Given the description of an element on the screen output the (x, y) to click on. 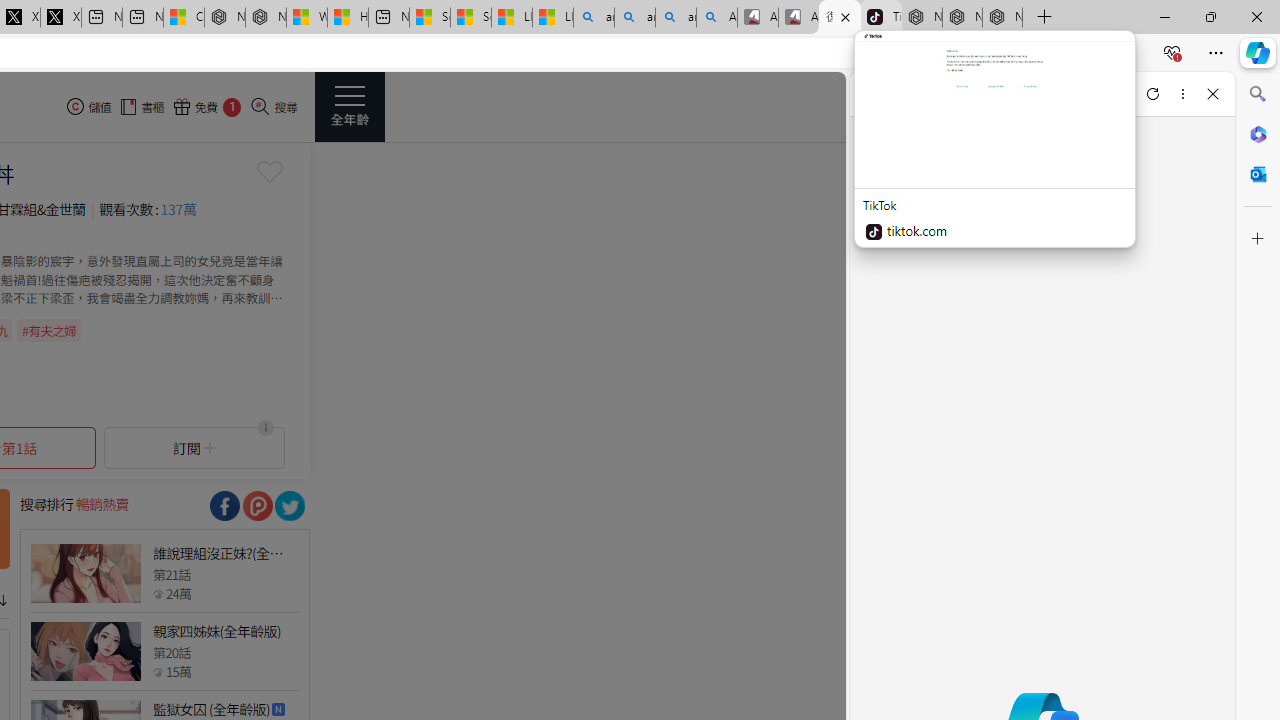
Class: thumb_img (85, 651)
Class: side_menu_btn actionRightMenuBtn (349, 106)
Class: epicon_starpoint (158, 671)
